Given the description of an element on the screen output the (x, y) to click on. 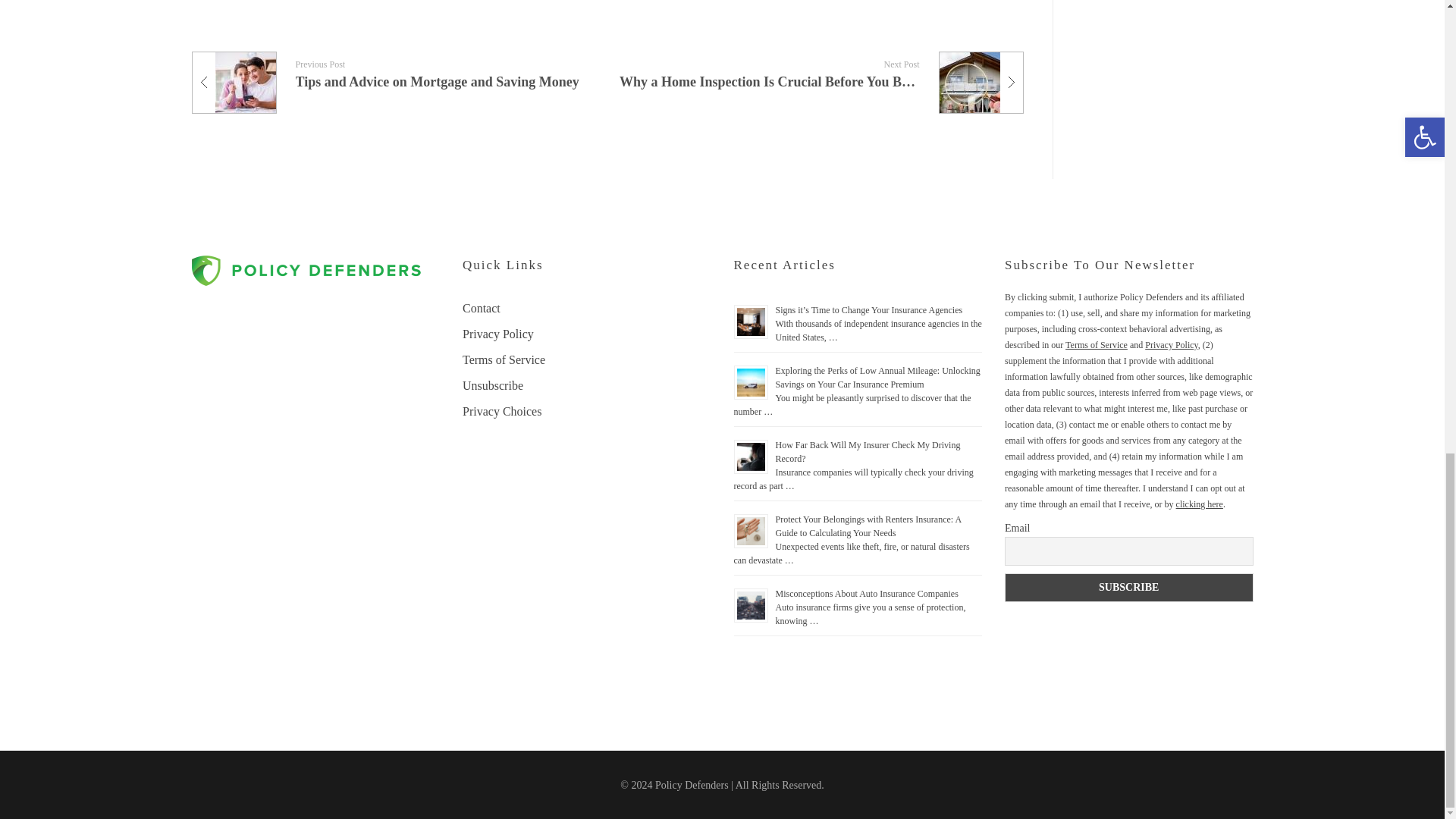
Subscribe (1128, 587)
